Given the description of an element on the screen output the (x, y) to click on. 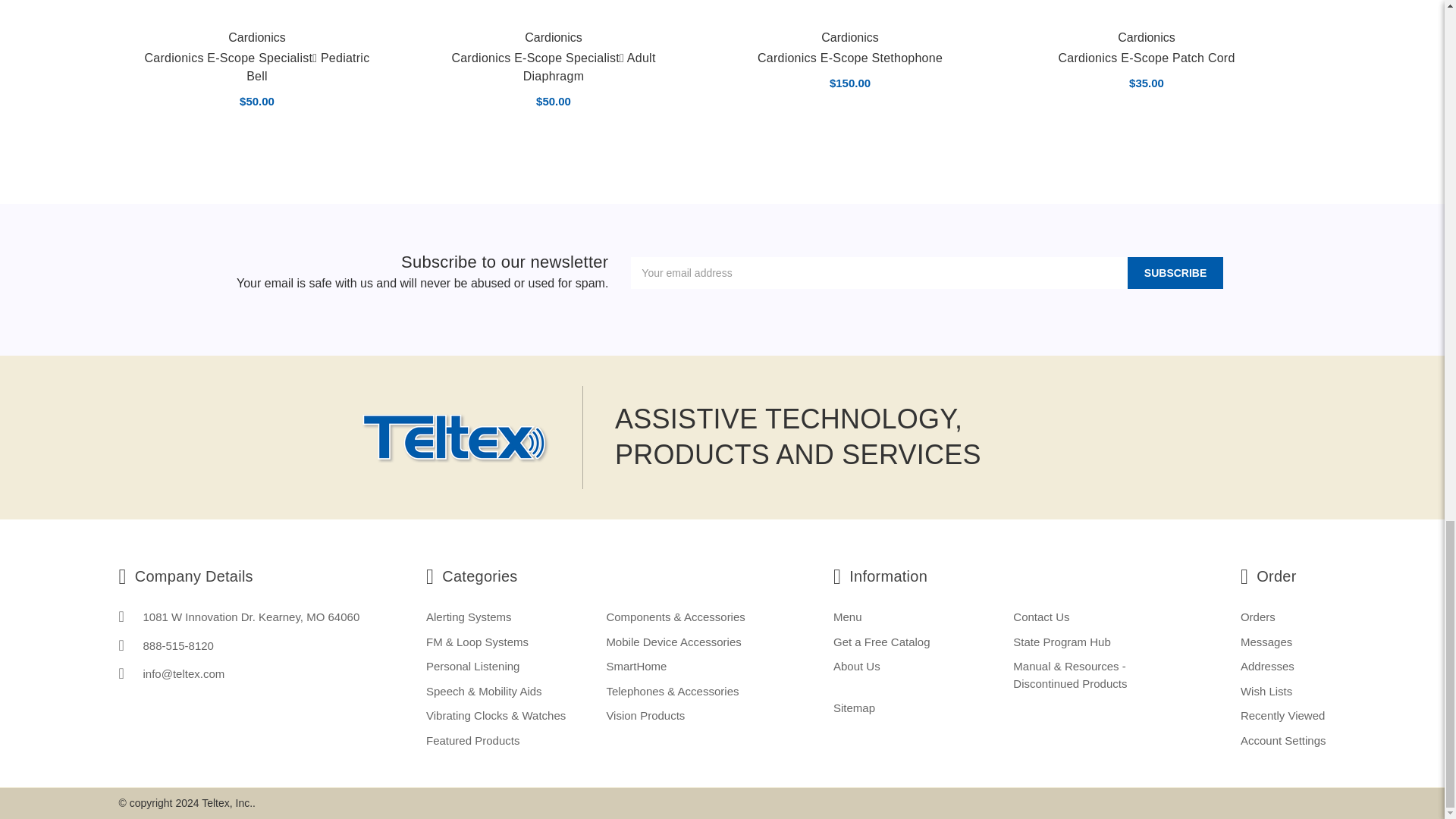
Subscribe (1174, 273)
